Given the description of an element on the screen output the (x, y) to click on. 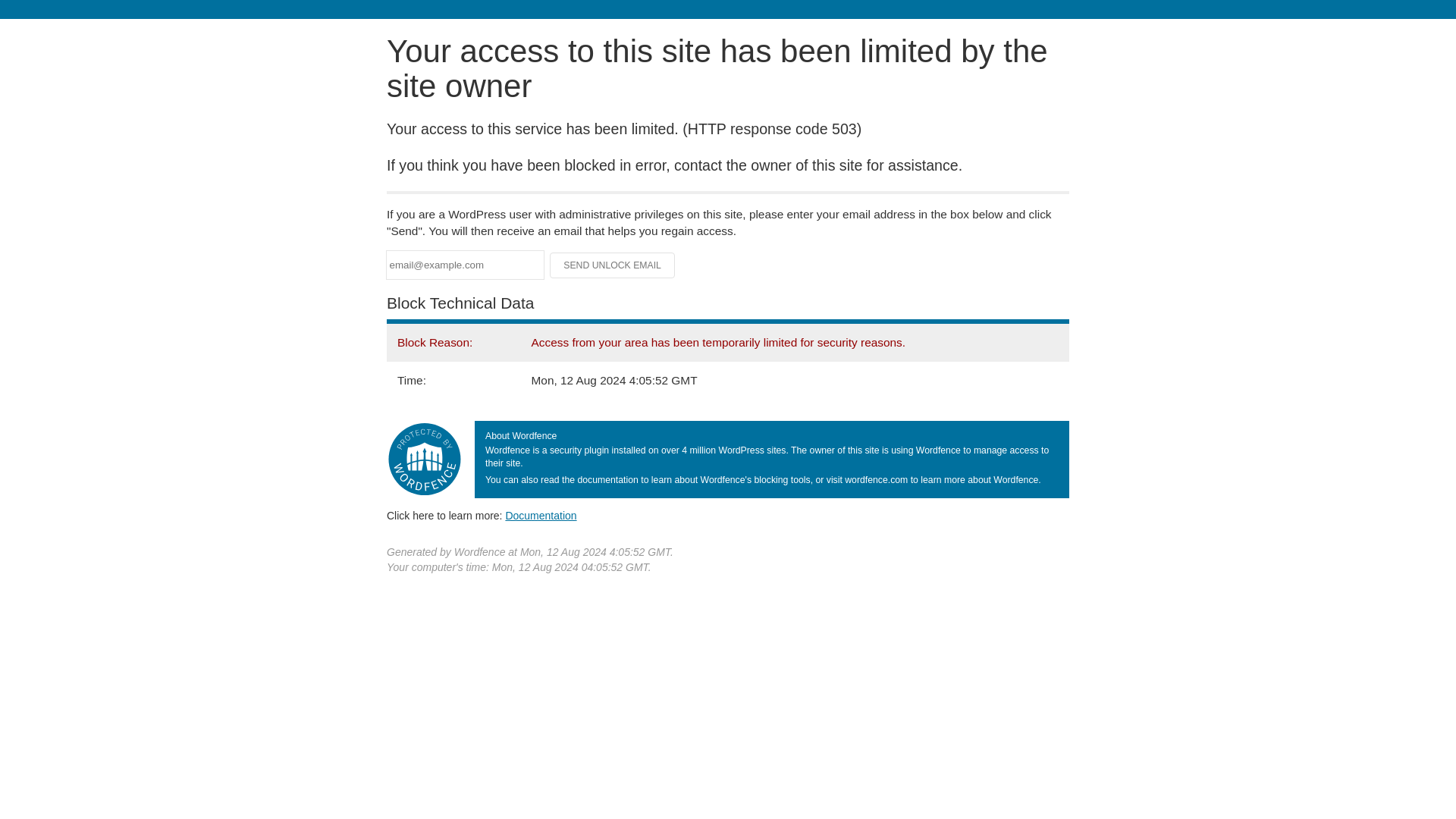
Send Unlock Email (612, 265)
Send Unlock Email (612, 265)
Documentation (540, 515)
